Given the description of an element on the screen output the (x, y) to click on. 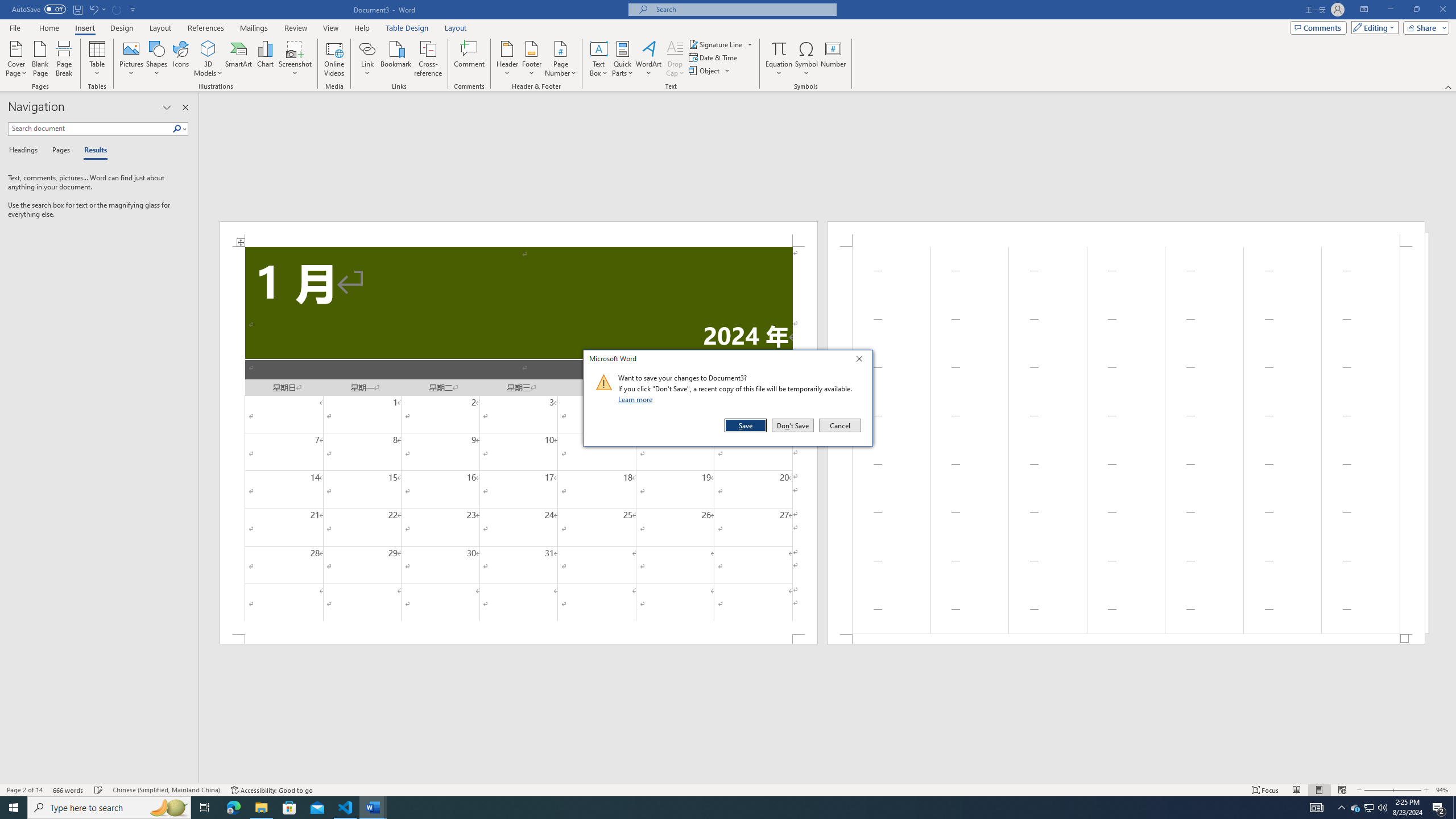
Word - 2 running windows (373, 807)
Pictures (131, 58)
WordArt (648, 58)
3D Models (208, 48)
Table (97, 58)
Cover Page (16, 58)
